Given the description of an element on the screen output the (x, y) to click on. 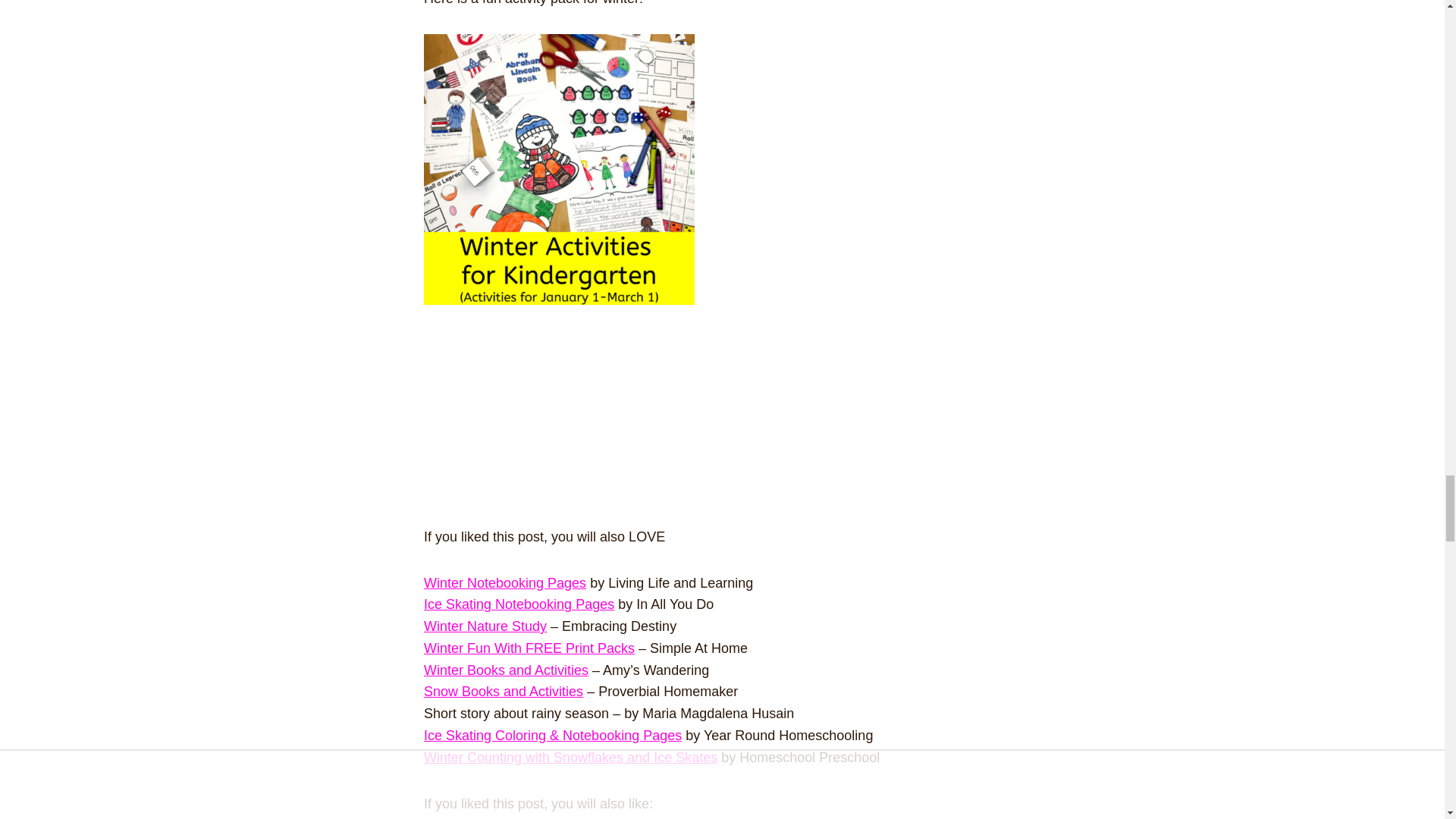
Winter Counting with Snowflakes and Ice Skates (570, 757)
Snow Books and Activities (503, 691)
Winter Nature Study (485, 626)
Ice Skating Notebooking Pages (518, 604)
Winter Fun With FREE Print Packs (528, 648)
Winter Books and Activities (505, 670)
Winter Notebooking Pages (504, 581)
